Given the description of an element on the screen output the (x, y) to click on. 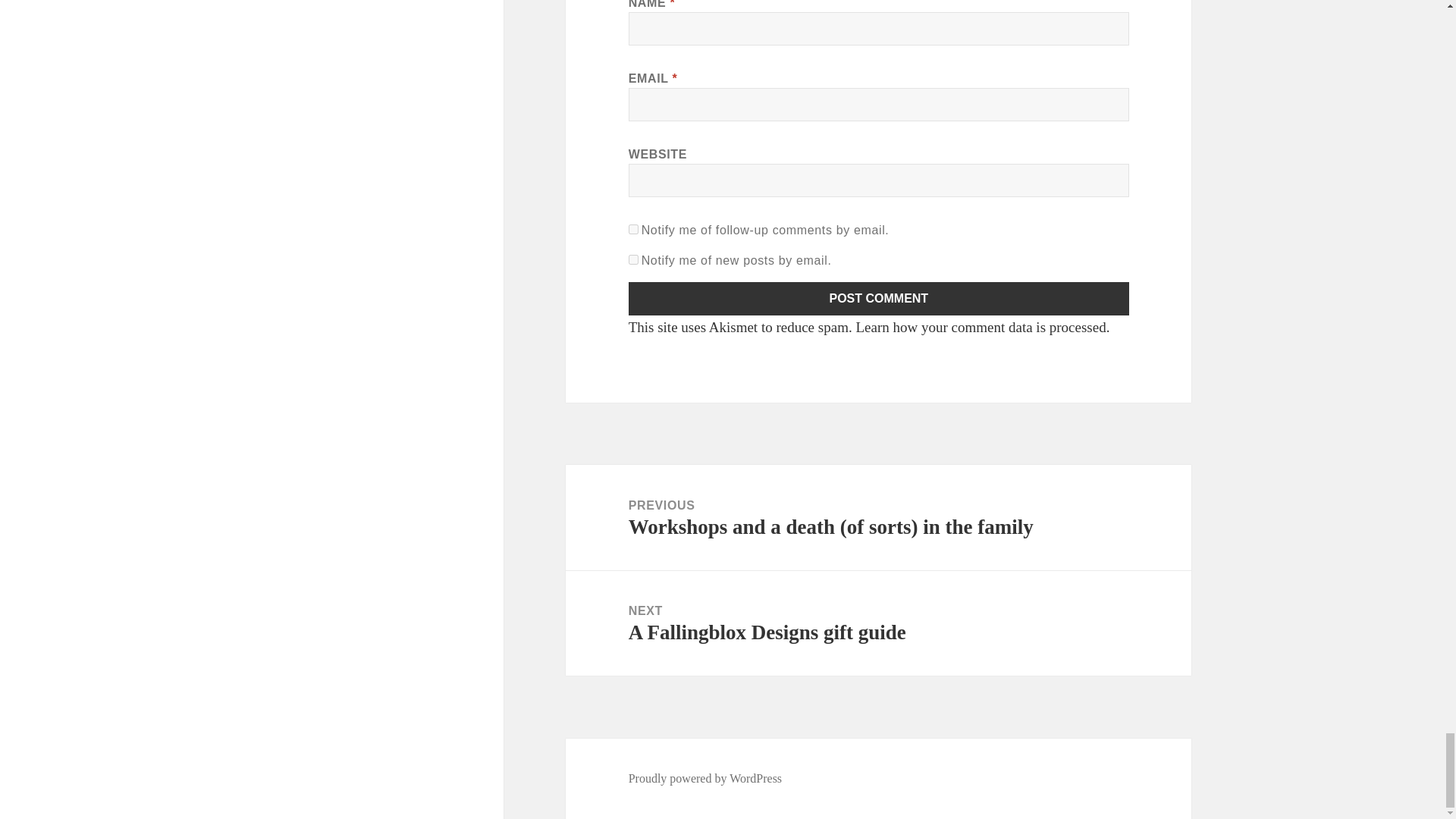
Post Comment (878, 298)
subscribe (633, 259)
subscribe (633, 229)
